Given the description of an element on the screen output the (x, y) to click on. 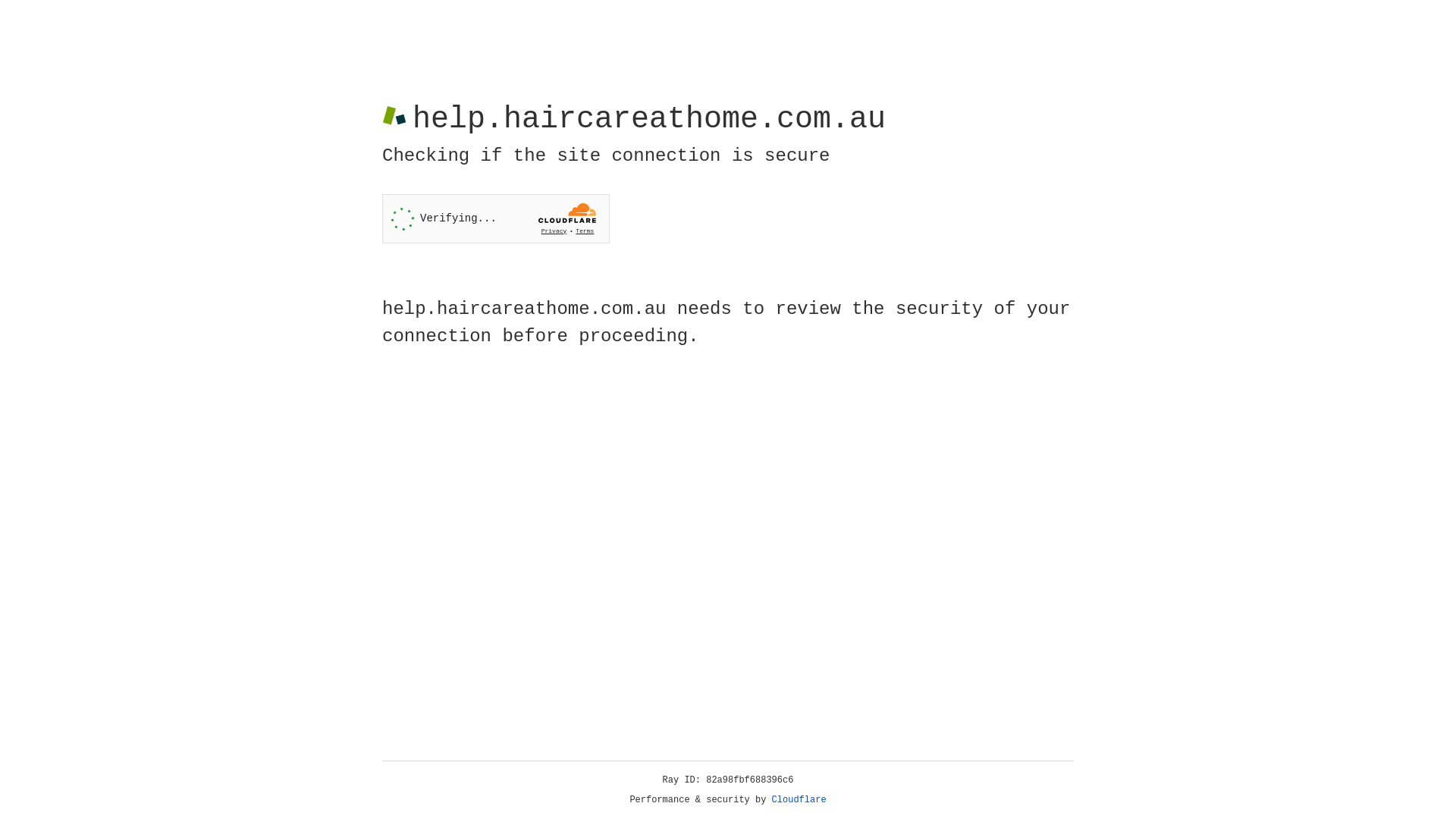
Widget containing a Cloudflare security challenge Element type: hover (495, 218)
Cloudflare Element type: text (798, 799)
